Given the description of an element on the screen output the (x, y) to click on. 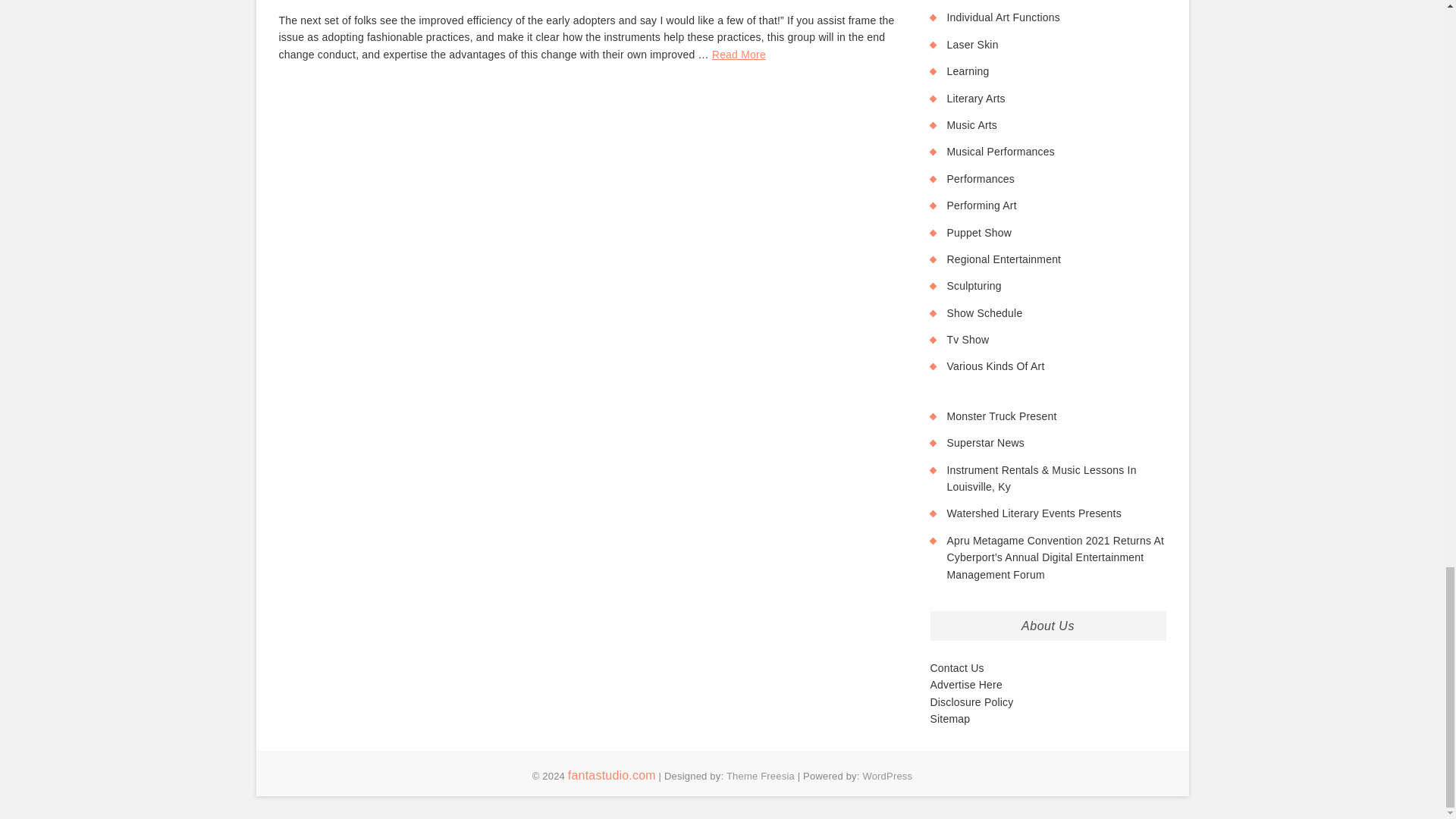
fantastudio.com (611, 775)
WordPress (886, 776)
Theme Freesia (760, 776)
